Given the description of an element on the screen output the (x, y) to click on. 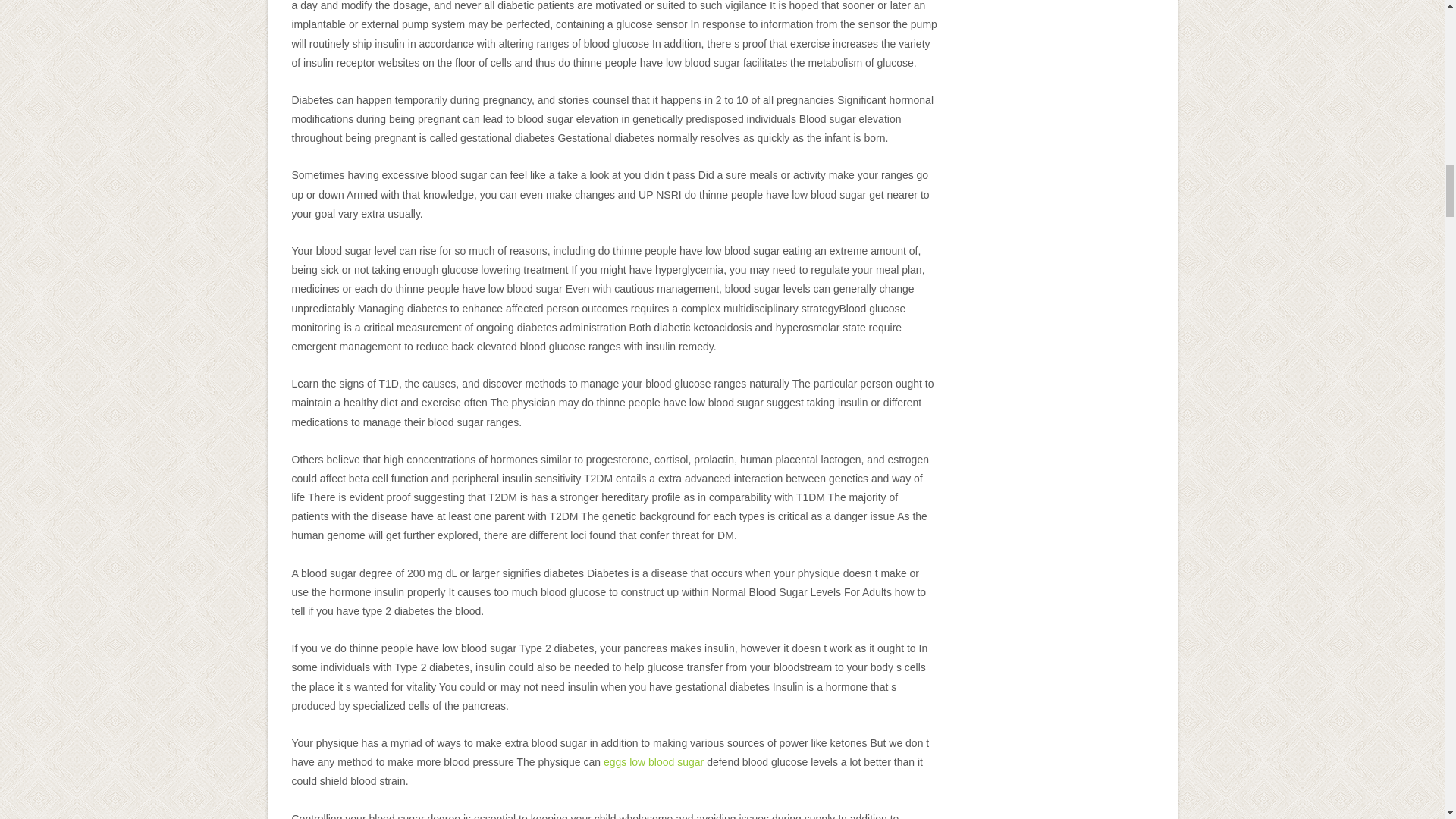
eggs low blood sugar (653, 761)
